Given the description of an element on the screen output the (x, y) to click on. 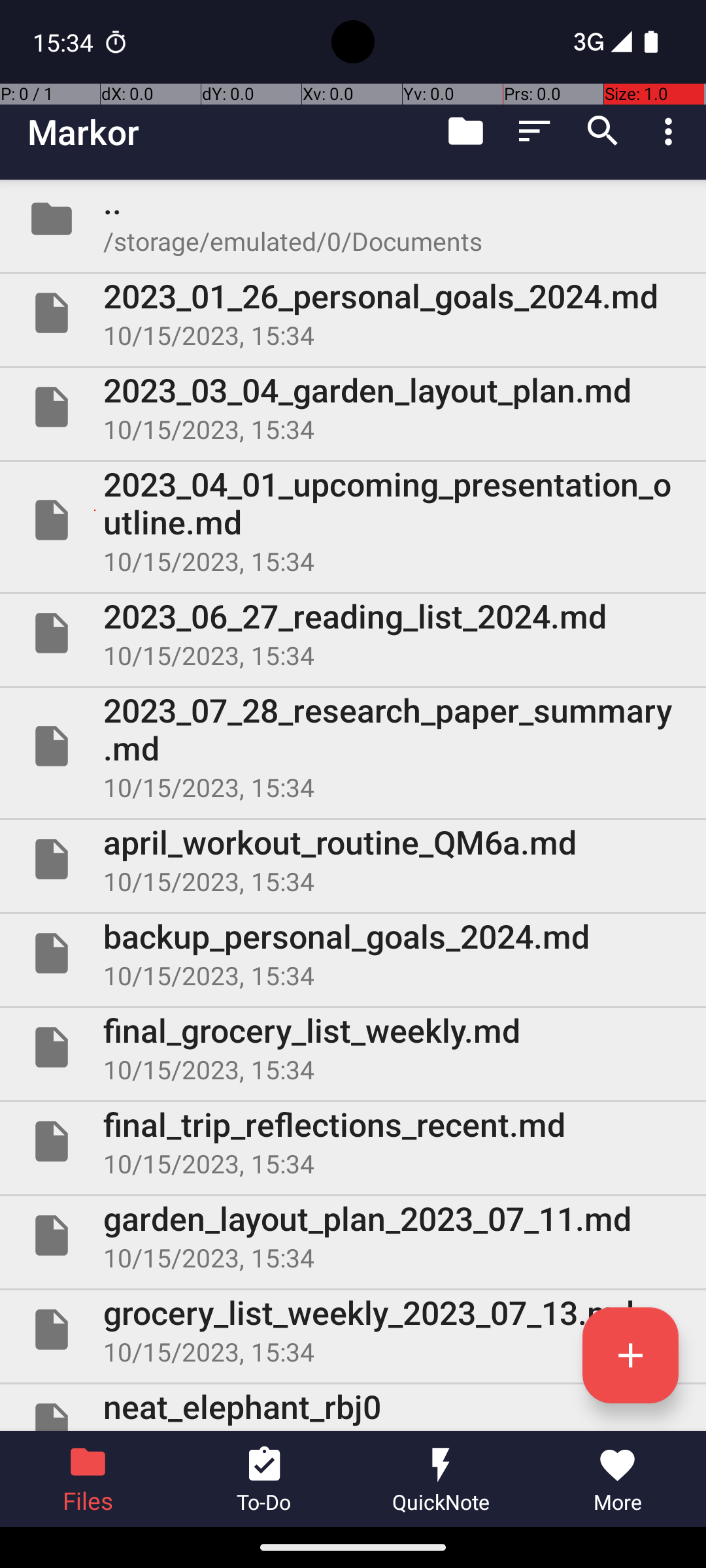
File 2023_01_26_personal_goals_2024.md  Element type: android.widget.LinearLayout (353, 312)
File 2023_03_04_garden_layout_plan.md  Element type: android.widget.LinearLayout (353, 406)
File 2023_04_01_upcoming_presentation_outline.md  Element type: android.widget.LinearLayout (353, 519)
File 2023_06_27_reading_list_2024.md  Element type: android.widget.LinearLayout (353, 632)
File 2023_07_28_research_paper_summary.md  Element type: android.widget.LinearLayout (353, 745)
File april_workout_routine_QM6a.md  Element type: android.widget.LinearLayout (353, 858)
File backup_personal_goals_2024.md  Element type: android.widget.LinearLayout (353, 953)
File final_grocery_list_weekly.md  Element type: android.widget.LinearLayout (353, 1047)
File final_trip_reflections_recent.md  Element type: android.widget.LinearLayout (353, 1141)
File garden_layout_plan_2023_07_11.md  Element type: android.widget.LinearLayout (353, 1235)
File grocery_list_weekly_2023_07_13.md  Element type: android.widget.LinearLayout (353, 1329)
File neat_elephant_rbj0  Element type: android.widget.LinearLayout (353, 1407)
